Given the description of an element on the screen output the (x, y) to click on. 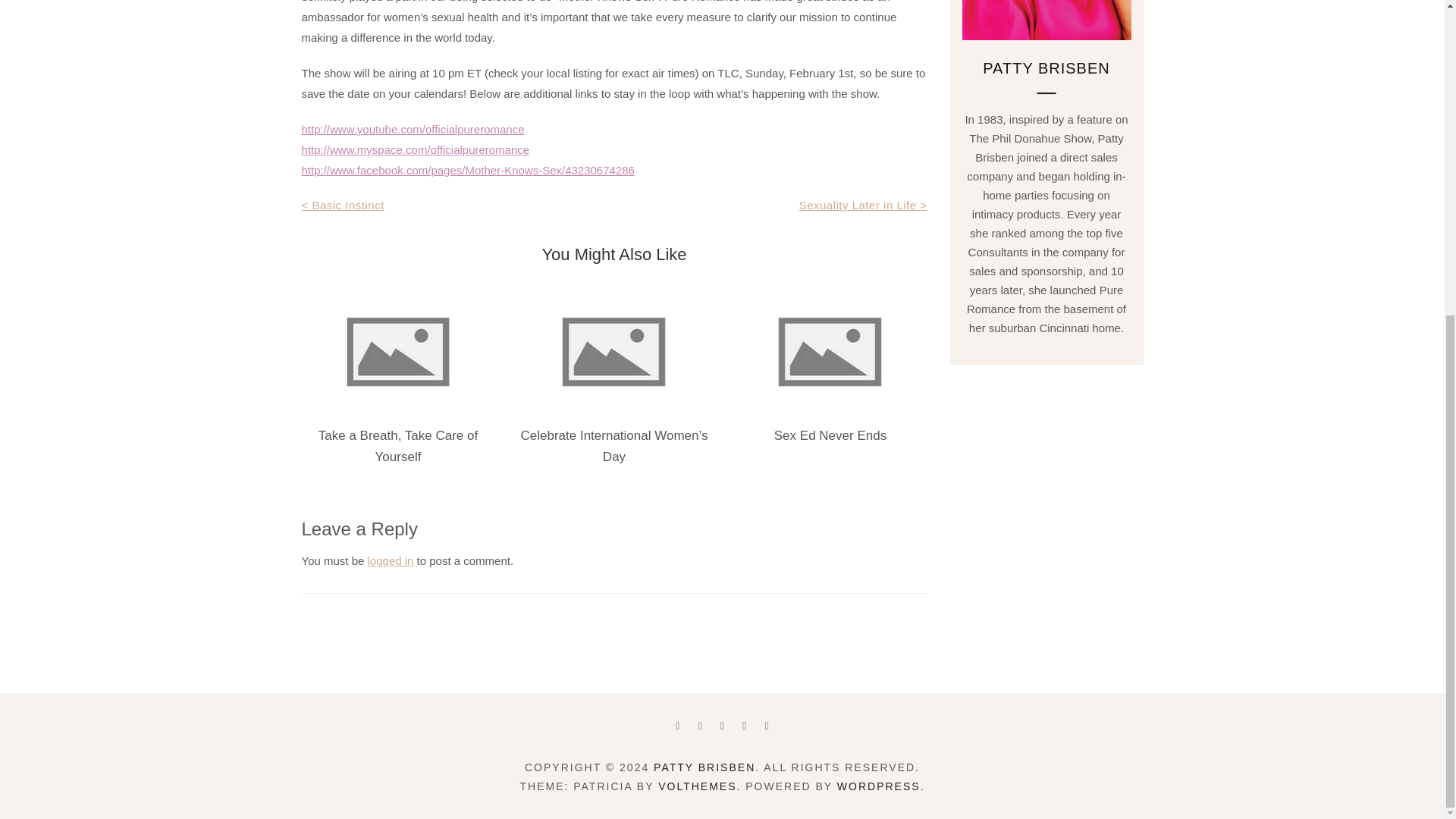
Sex Ed Never Ends (830, 435)
VolThemes (697, 786)
PATTY BRISBEN (704, 767)
WordPress (878, 786)
logged in (390, 560)
Take a Breath, Take Care of Yourself (397, 446)
Patty Brisben (704, 767)
